Given the description of an element on the screen output the (x, y) to click on. 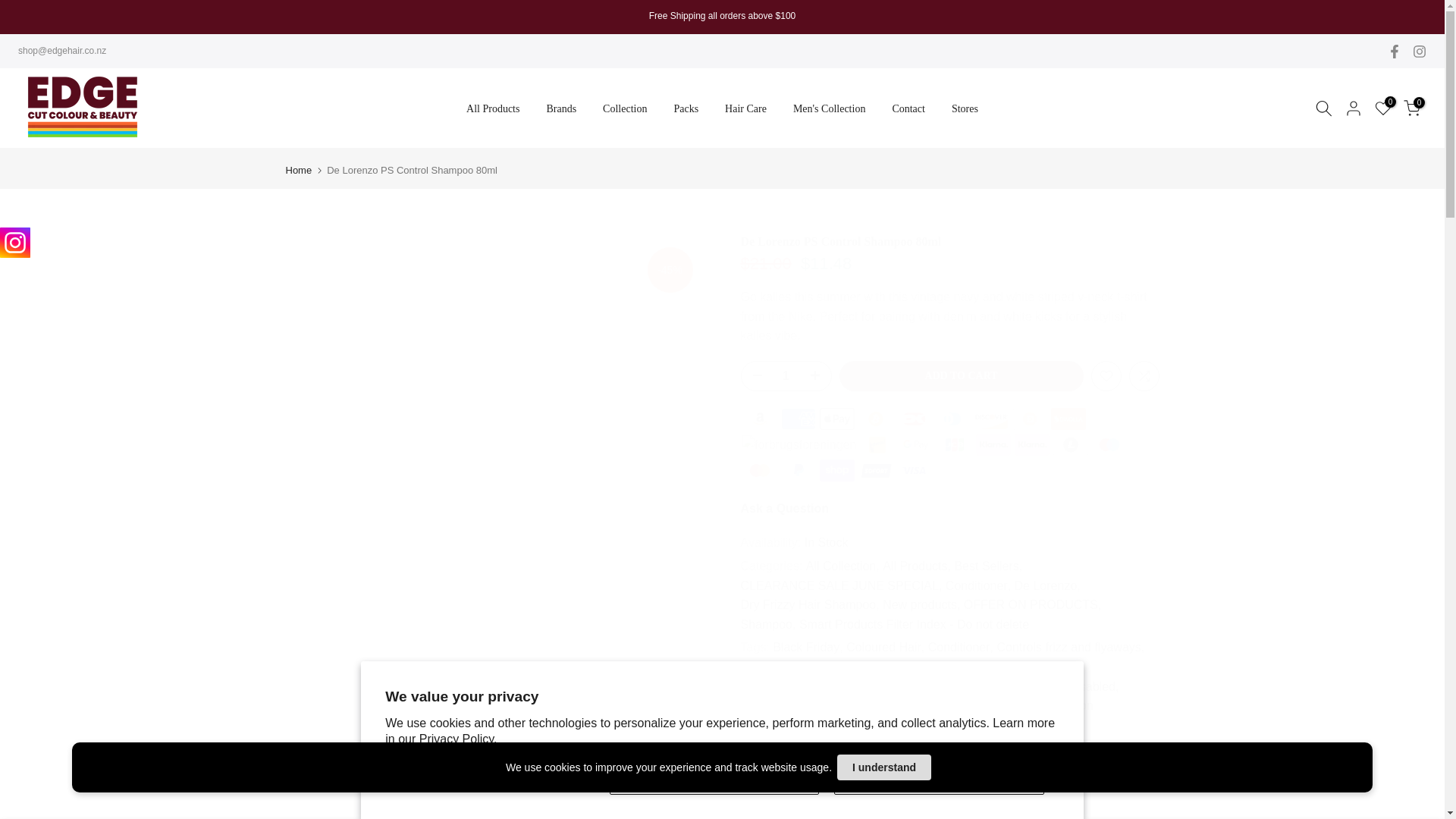
All Products (492, 108)
Brands (560, 108)
1 (786, 375)
Skip to content (10, 7)
Decline (938, 780)
Accept (714, 780)
Privacy Policy. (458, 738)
Manage preferences (489, 780)
Instagram (15, 242)
